Given the description of an element on the screen output the (x, y) to click on. 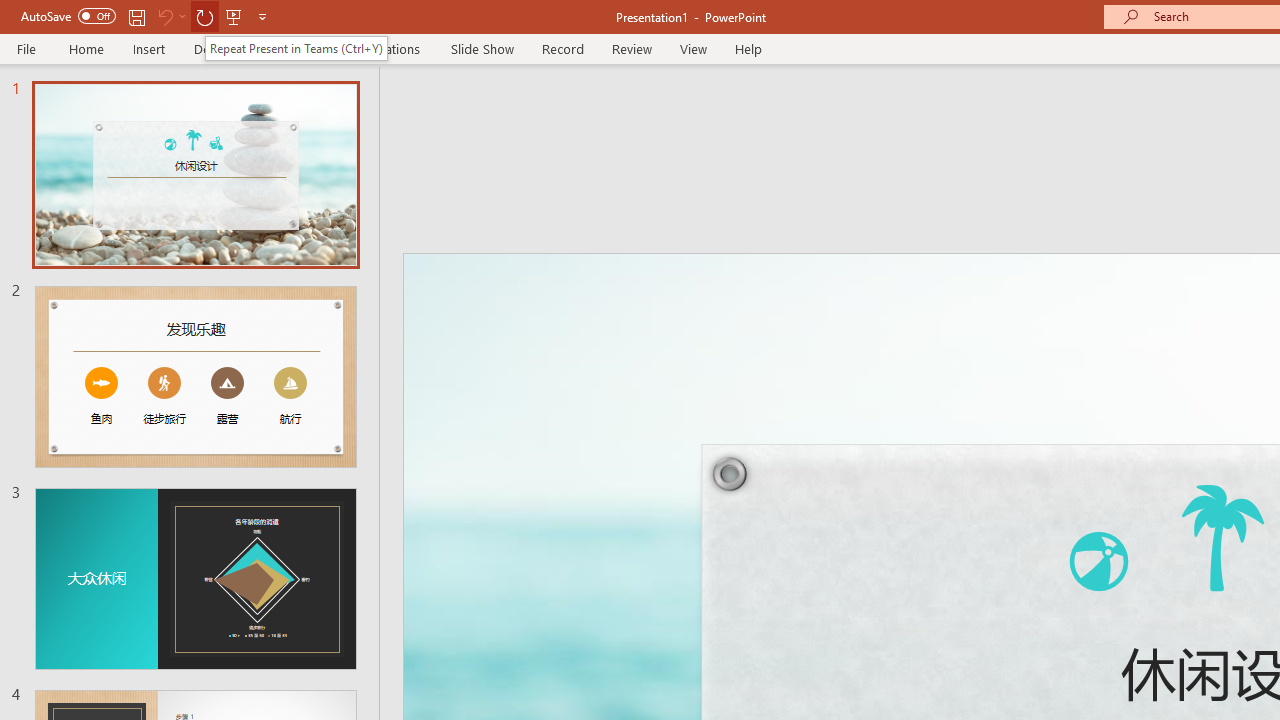
Repeat Present in Teams (Ctrl+Y) (295, 48)
